Given the description of an element on the screen output the (x, y) to click on. 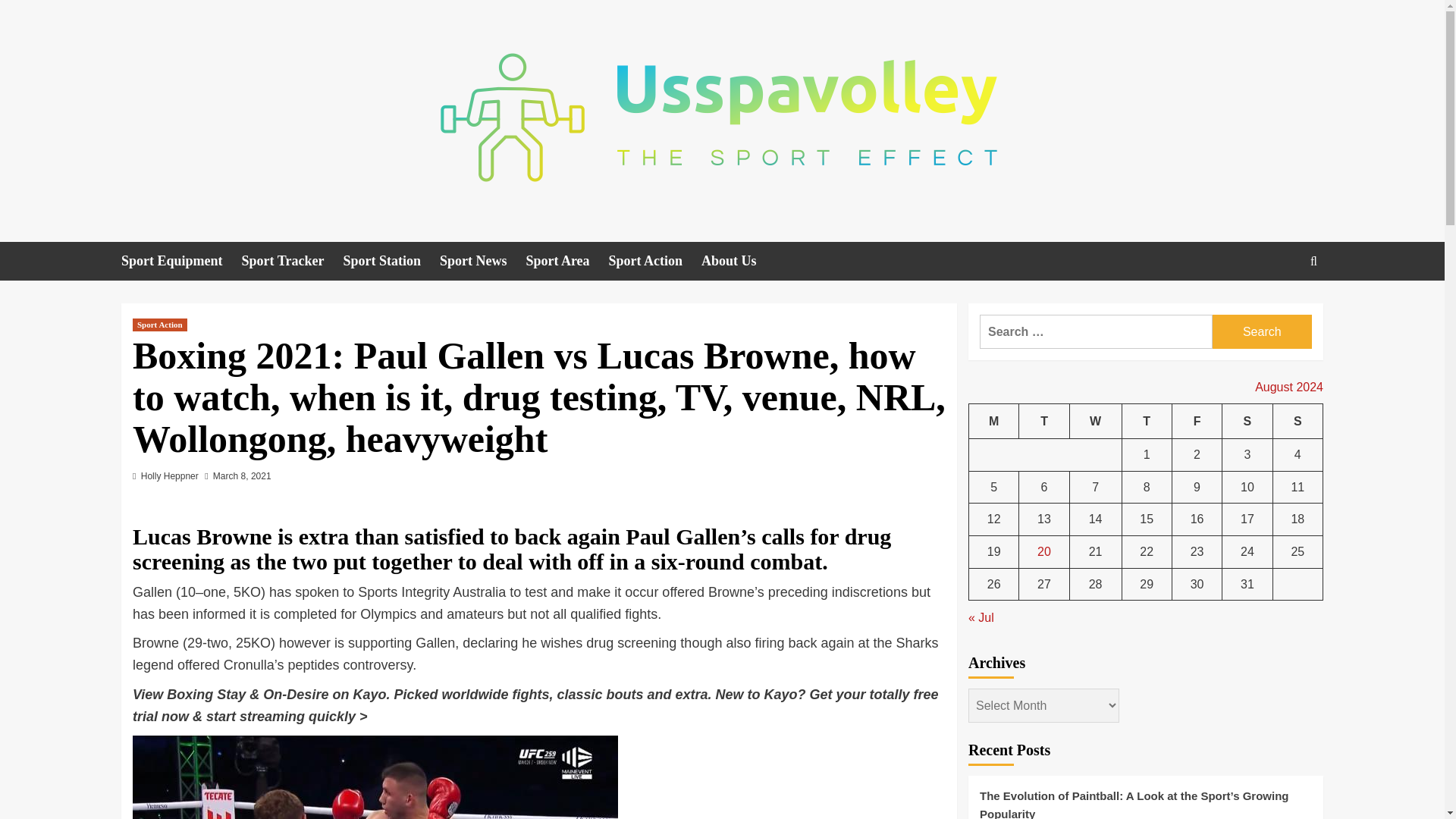
Saturday (1247, 420)
Holly Heppner (169, 475)
Search (1278, 308)
Sport Equipment (180, 260)
Tuesday (1043, 420)
March 8, 2021 (241, 475)
About Us (738, 260)
Sport Area (566, 260)
Monday (994, 420)
Search (1261, 331)
